Given the description of an element on the screen output the (x, y) to click on. 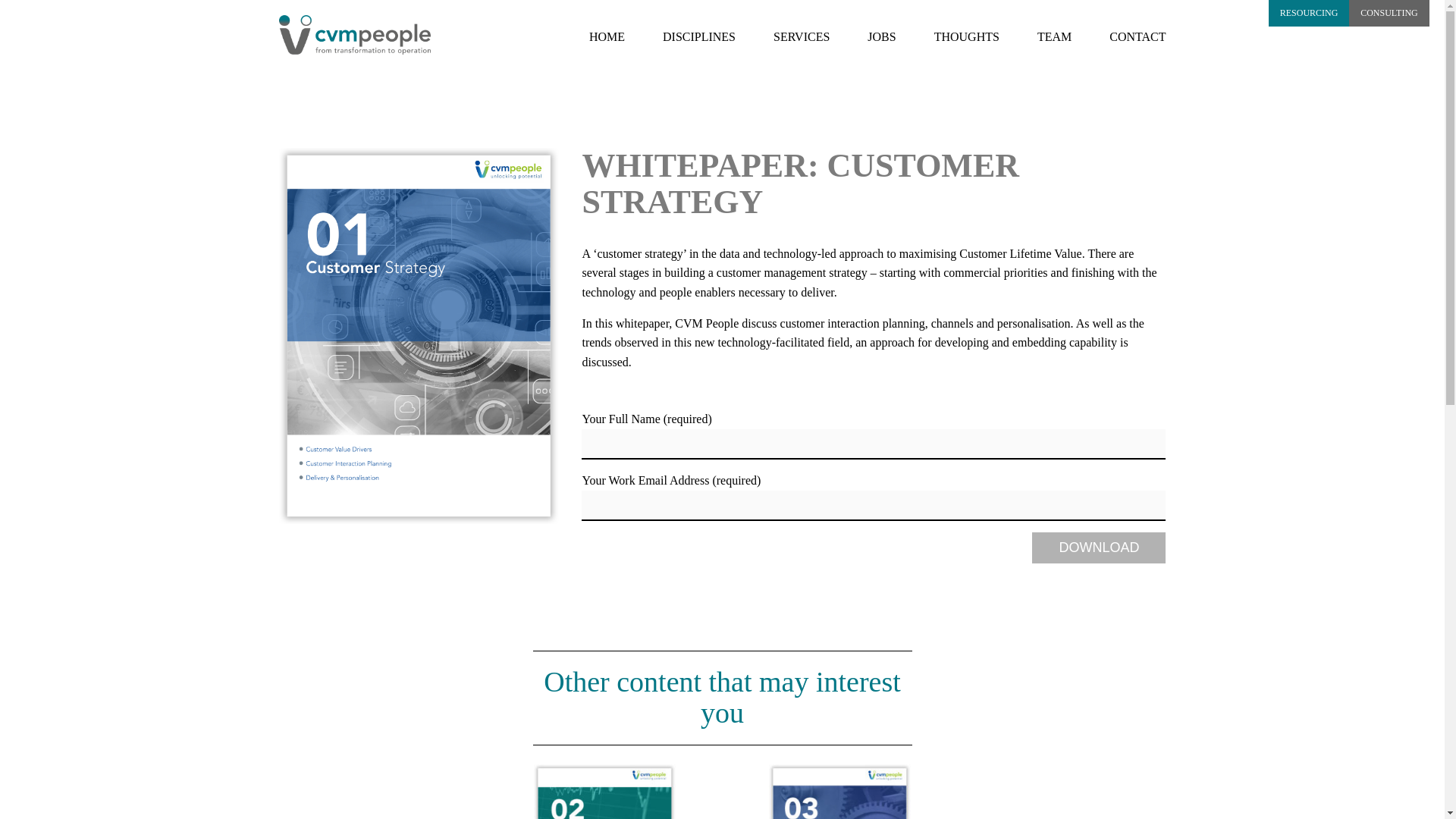
CONTACT (1137, 36)
HOME (606, 36)
CONSULTING (1389, 13)
Download (1099, 547)
RESOURCING (1308, 13)
DISCIPLINES (698, 36)
TEAM (1053, 36)
SERVICES (801, 36)
THOUGHTS (966, 36)
JOBS (881, 36)
Download (1099, 547)
